Given the description of an element on the screen output the (x, y) to click on. 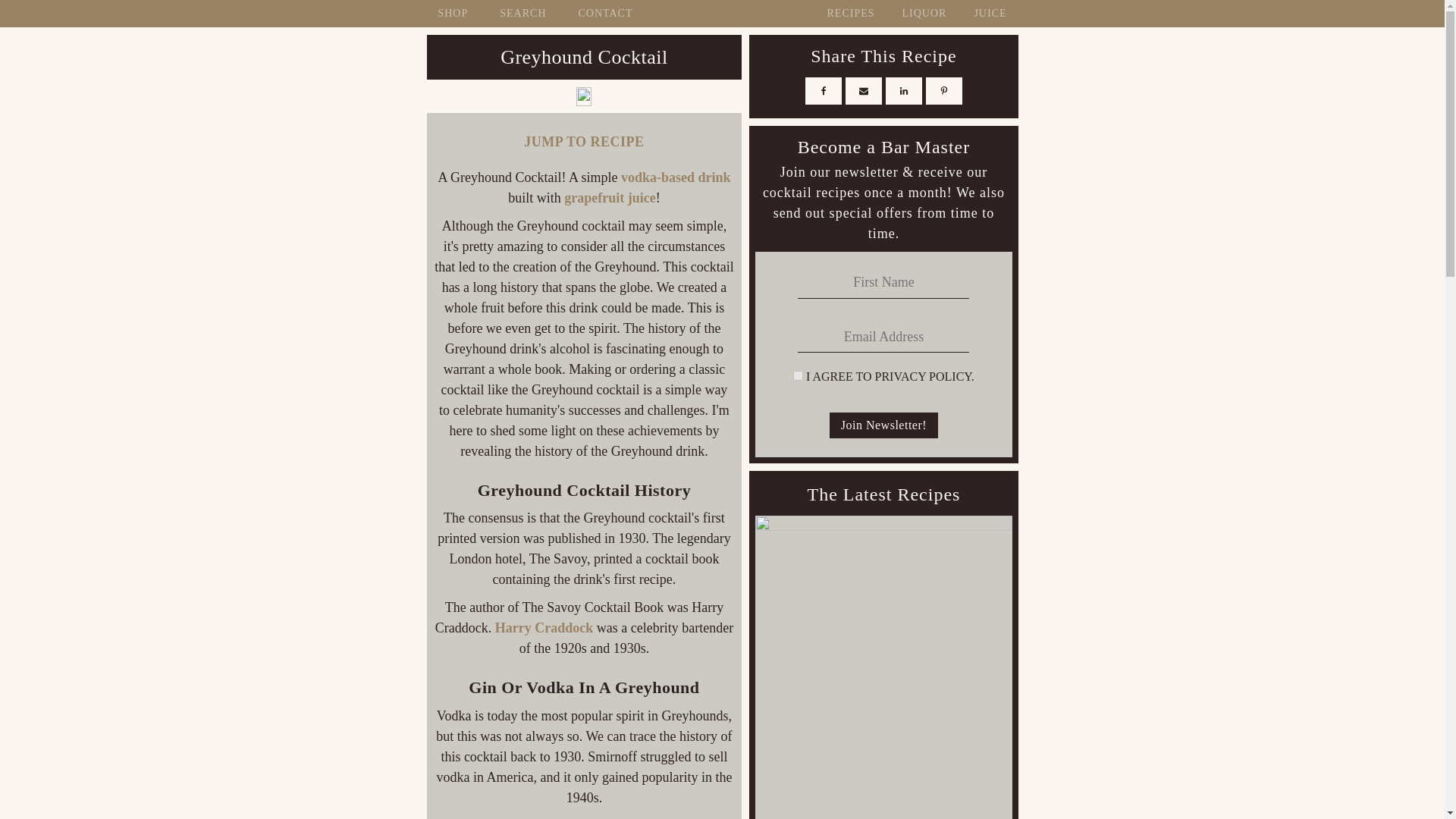
RECIPES (850, 12)
LIQUOR (924, 12)
Join Newsletter! (883, 424)
Join Newsletter! (883, 424)
vodka-based drink (675, 177)
SEARCH (522, 12)
grapefruit juice (609, 197)
JUICE (989, 12)
JUMP TO RECIPE (583, 136)
CONTACT (605, 12)
